Given the description of an element on the screen output the (x, y) to click on. 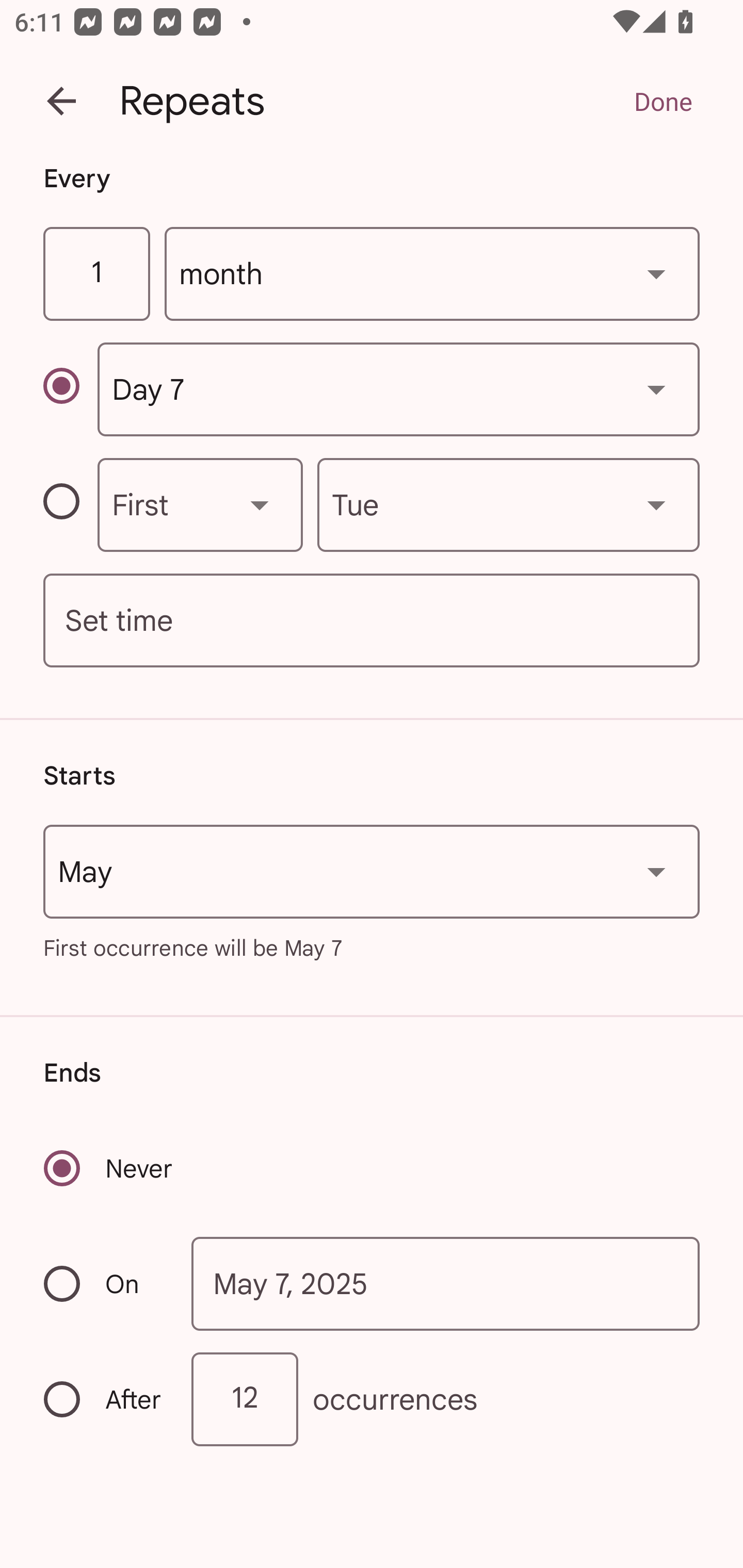
Back (61, 101)
Done (663, 101)
1 (96, 274)
month (431, 274)
Show dropdown menu (655, 273)
Day 7 (398, 388)
Show dropdown menu (655, 389)
Repeat monthly on a specific day of the month (70, 389)
First (200, 504)
Tue (508, 504)
Show dropdown menu (259, 504)
Show dropdown menu (655, 504)
Repeat monthly on a specific weekday (70, 504)
Set time (371, 620)
May (371, 871)
Show dropdown menu (655, 871)
Never Recurrence never ends (109, 1168)
May 7, 2025 (445, 1284)
On Recurrence ends on a specific date (104, 1283)
12 (244, 1398)
